Given the description of an element on the screen output the (x, y) to click on. 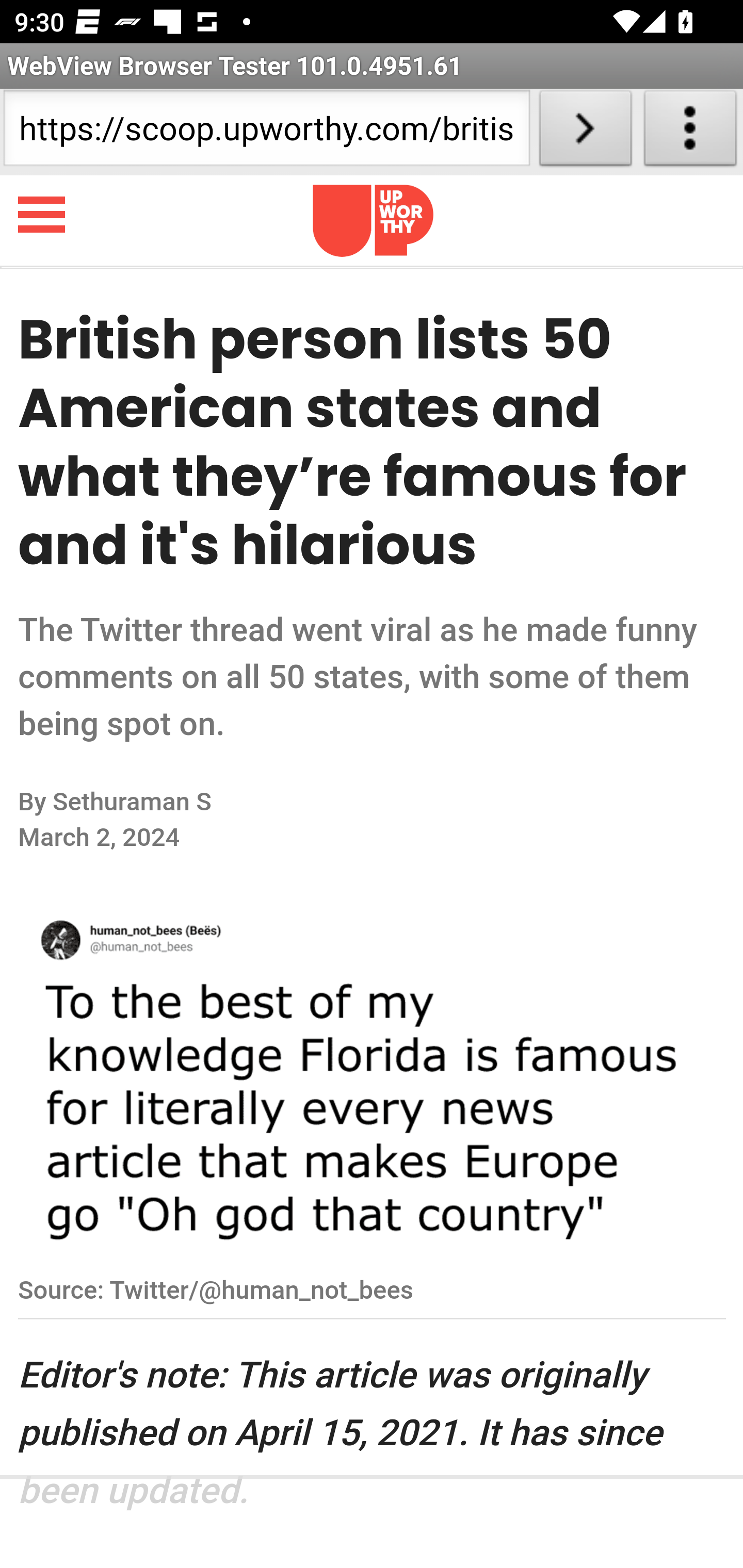
Load URL (585, 132)
About WebView (690, 132)
Upworthy (372, 219)
By Sethuraman S (186, 801)
